Given the description of an element on the screen output the (x, y) to click on. 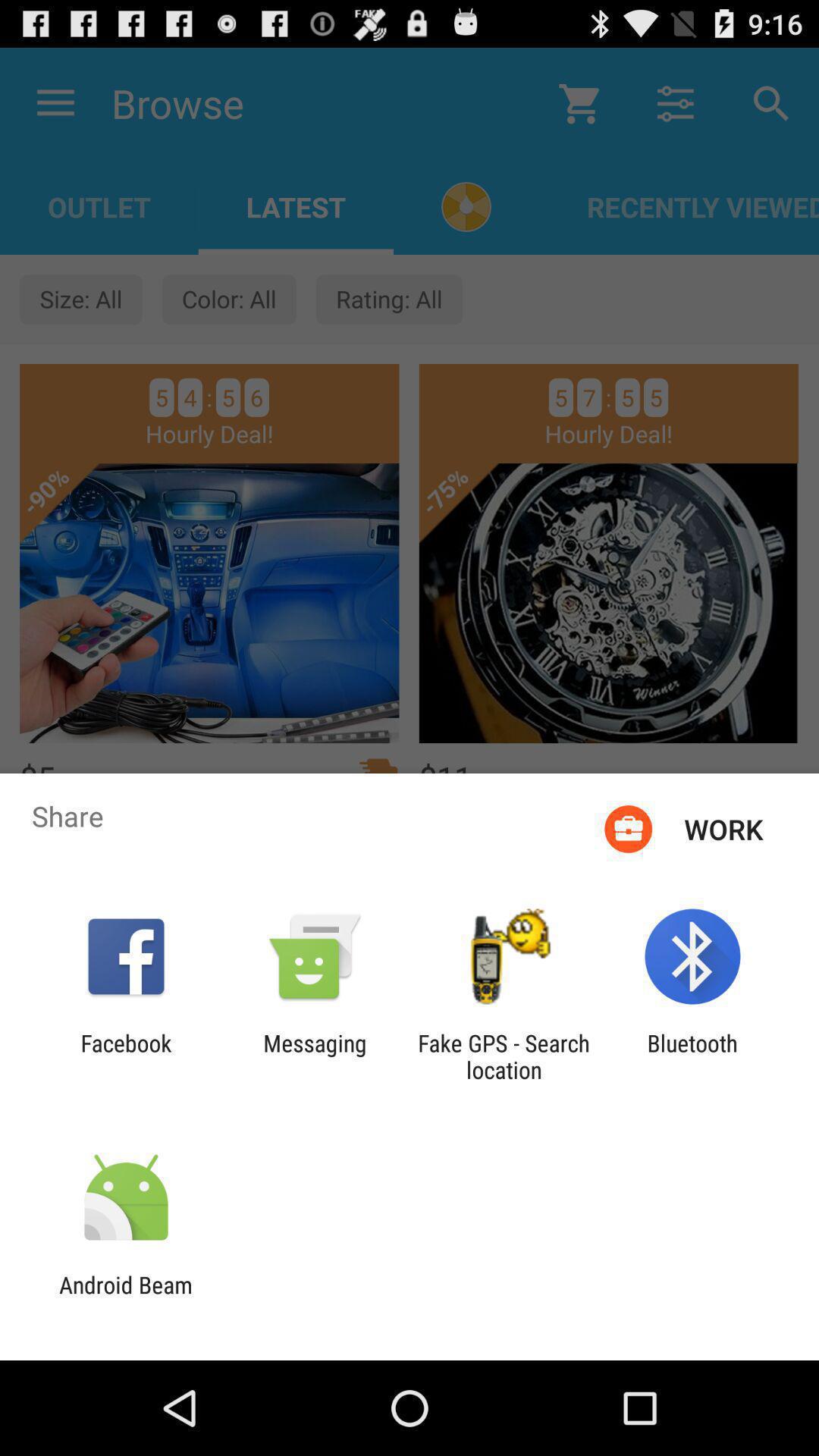
flip until the messaging icon (314, 1056)
